Given the description of an element on the screen output the (x, y) to click on. 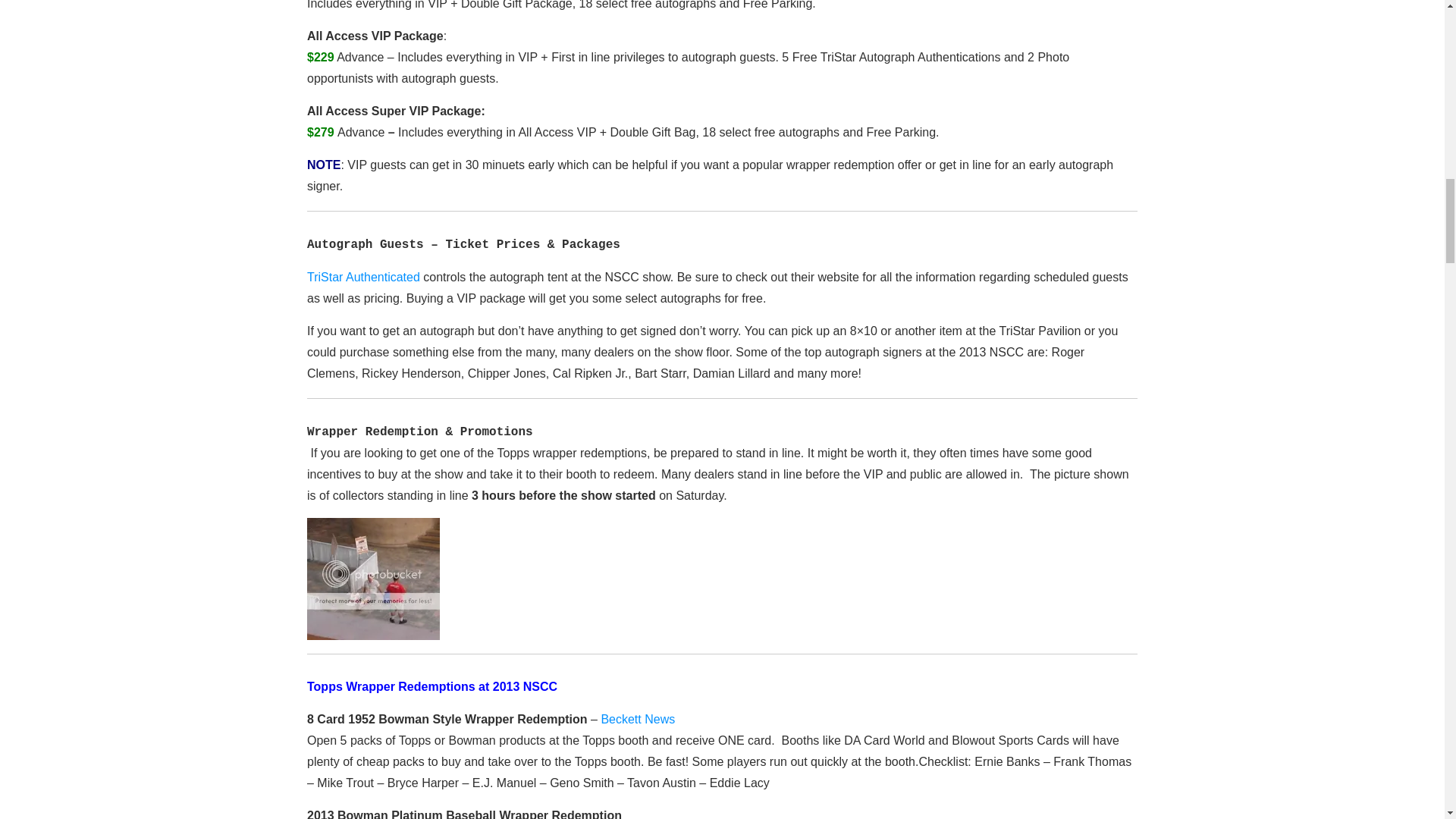
Collectors Stand in Line For NSCC (373, 578)
TriStar Authenticated (363, 277)
Beckett Topps National Promotion (637, 718)
Beckett News (637, 718)
TriStar Website NSCC Tickets (363, 277)
